Given the description of an element on the screen output the (x, y) to click on. 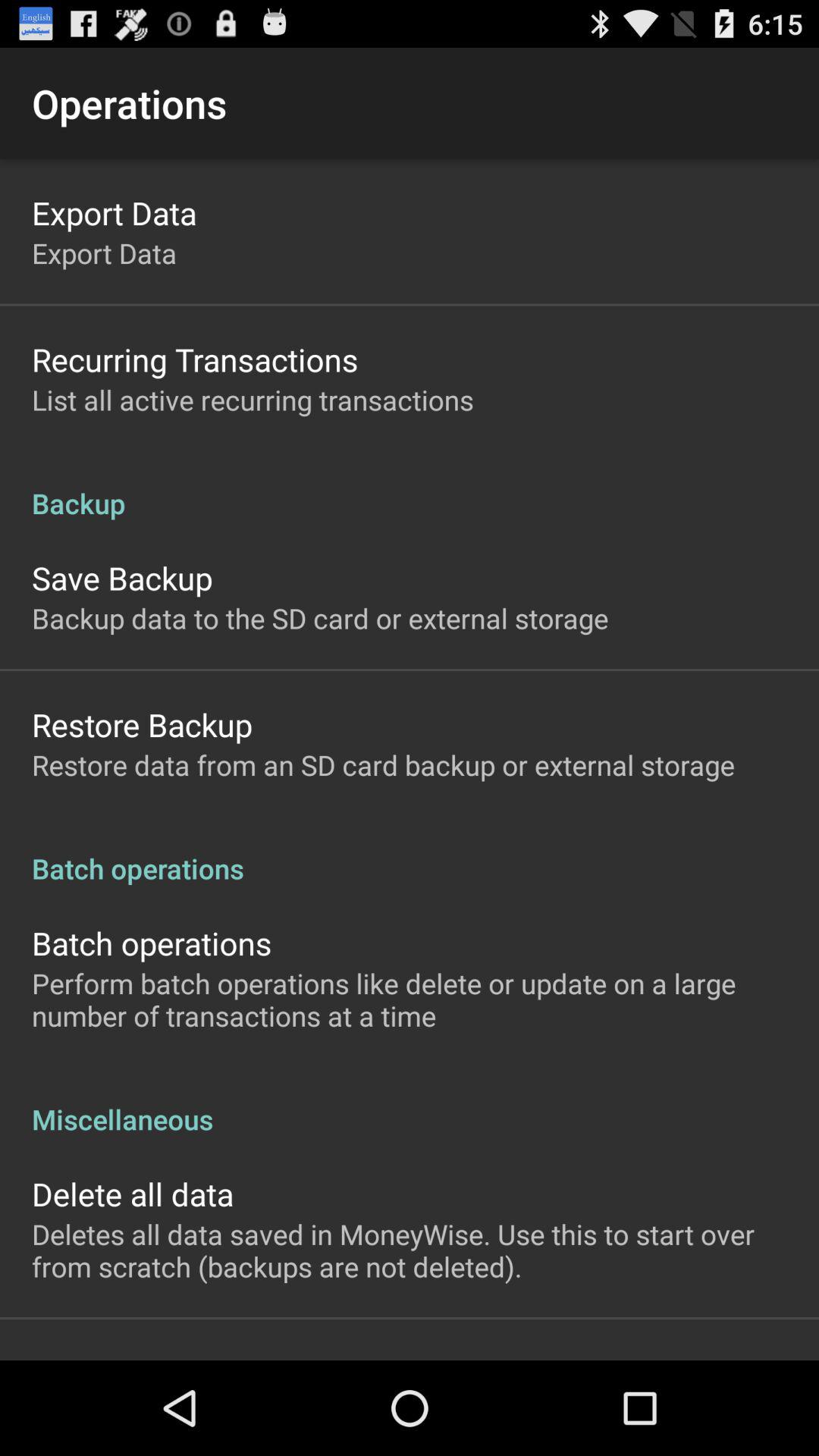
select the save backup item (121, 577)
